Given the description of an element on the screen output the (x, y) to click on. 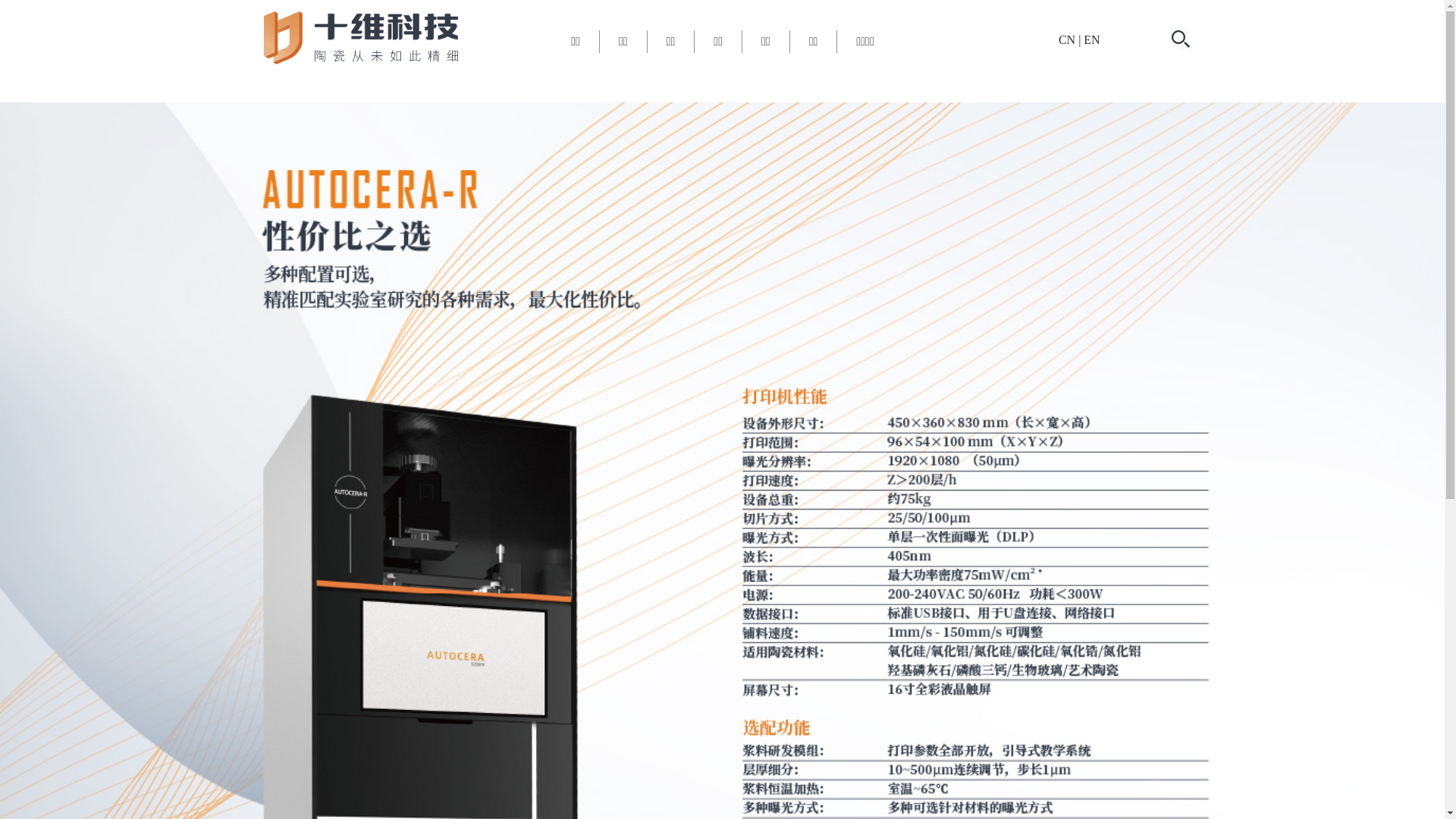
EN Element type: text (1091, 39)
CN Element type: text (1066, 39)
